Given the description of an element on the screen output the (x, y) to click on. 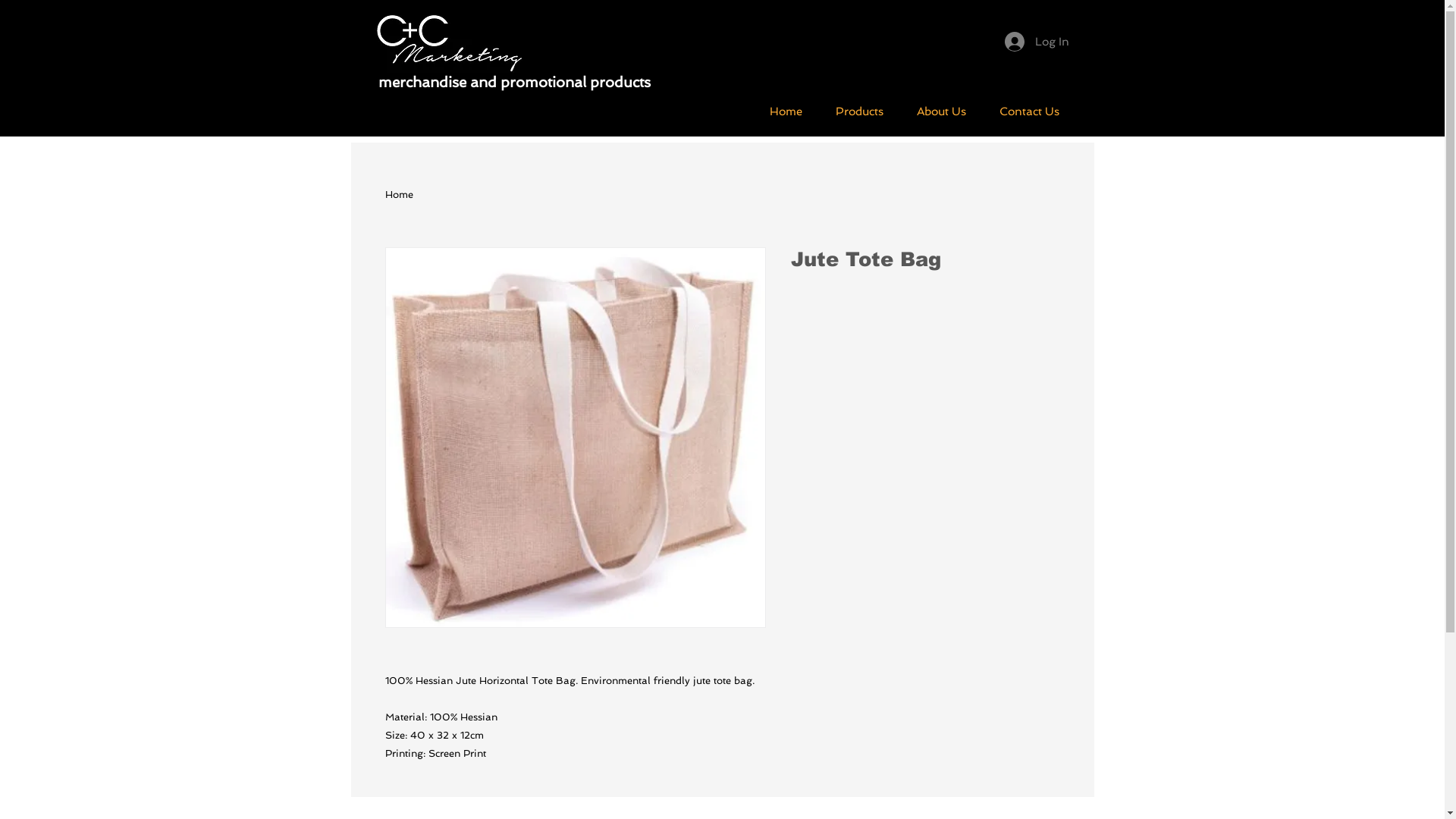
Contact Us Element type: text (1029, 110)
Home Element type: text (785, 110)
Home Element type: text (399, 194)
merchandise and promotional products Element type: text (513, 82)
Merchandise and Promotions Products Element type: hover (451, 42)
About Us Element type: text (940, 110)
Log In Element type: text (1036, 41)
